Given the description of an element on the screen output the (x, y) to click on. 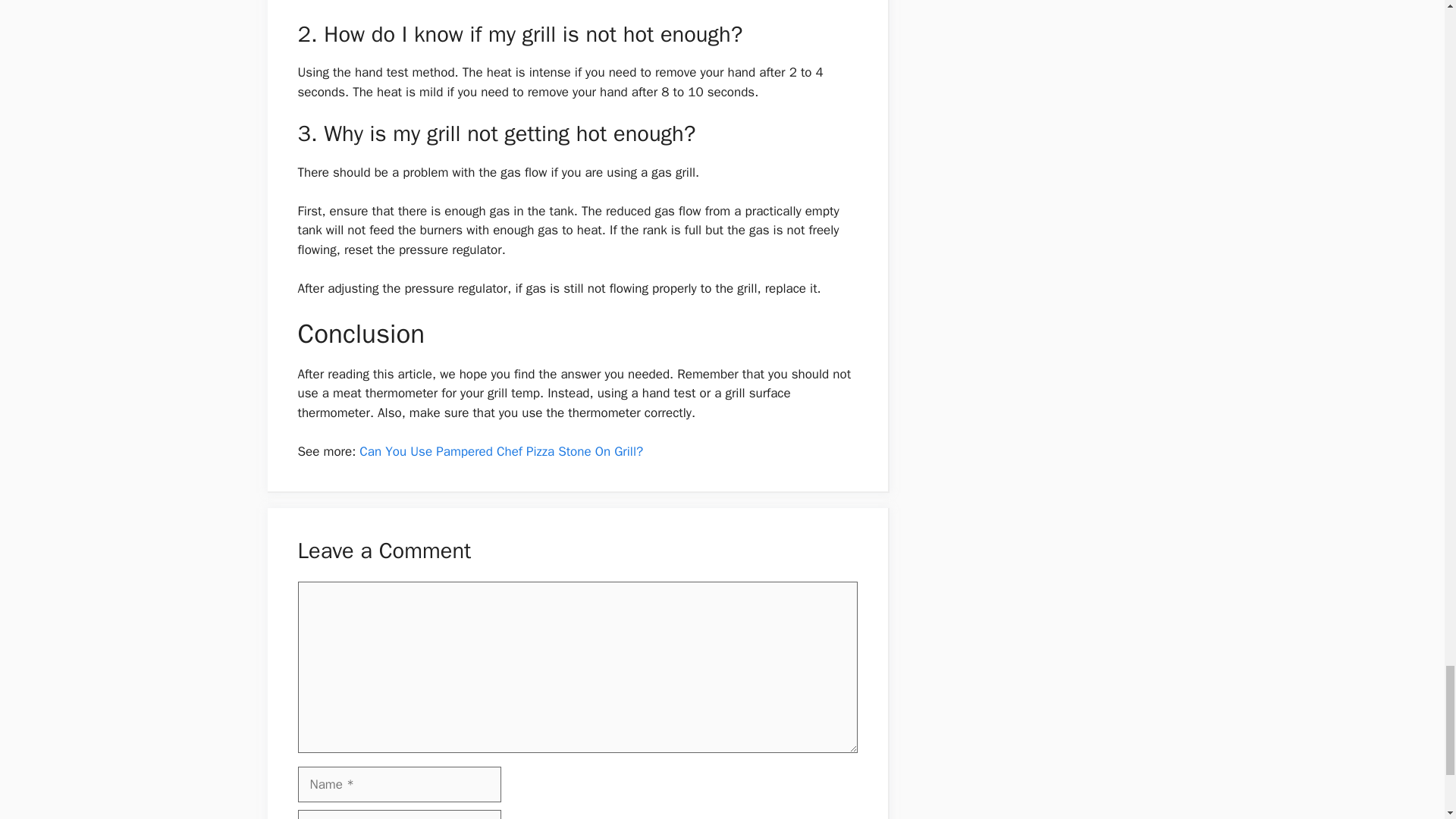
Can You Use Pampered Chef Pizza Stone On Grill? (501, 451)
